Given the description of an element on the screen output the (x, y) to click on. 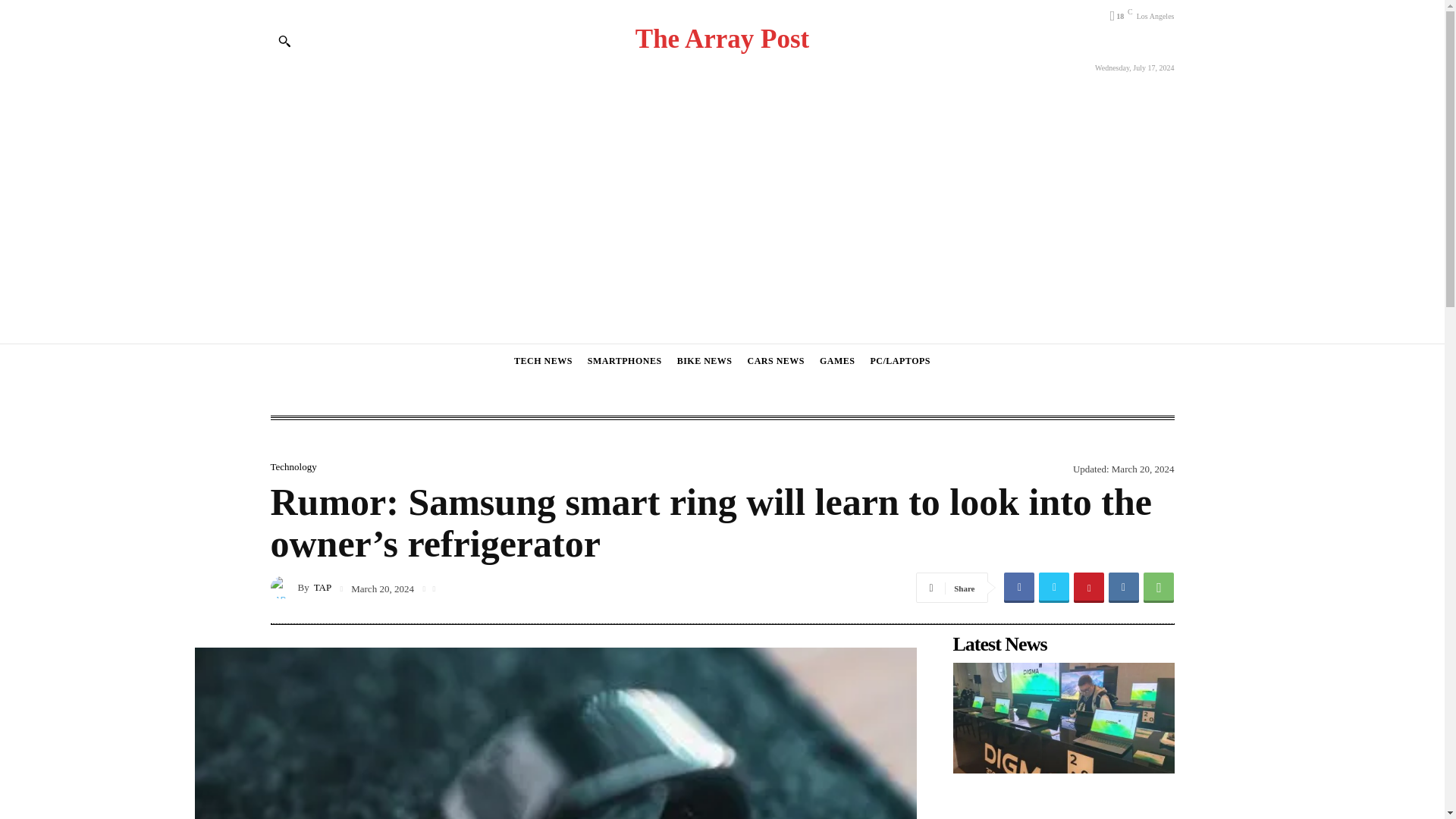
SMARTPHONES (624, 361)
WhatsApp (1157, 587)
Facebook (1018, 587)
GAMES (837, 361)
BIKE NEWS (704, 361)
VK (1123, 587)
Twitter (1053, 587)
Pinterest (1088, 587)
TECH NEWS (543, 361)
TAP (322, 587)
The Array Post (721, 39)
CARS NEWS (775, 361)
TAP (283, 587)
Technology (292, 466)
